Given the description of an element on the screen output the (x, y) to click on. 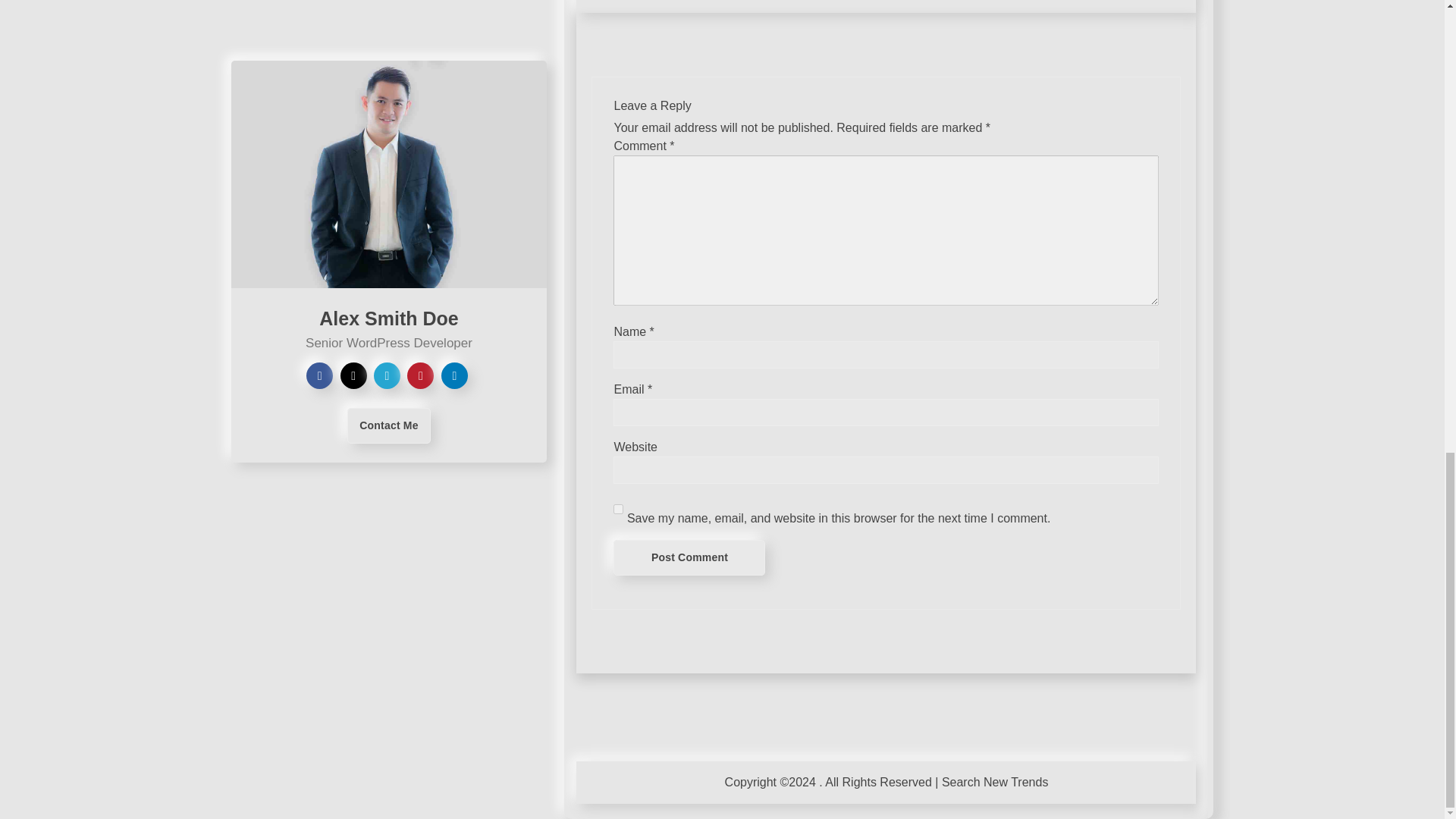
Post Comment (688, 557)
Post Comment (688, 557)
yes (617, 509)
